Given the description of an element on the screen output the (x, y) to click on. 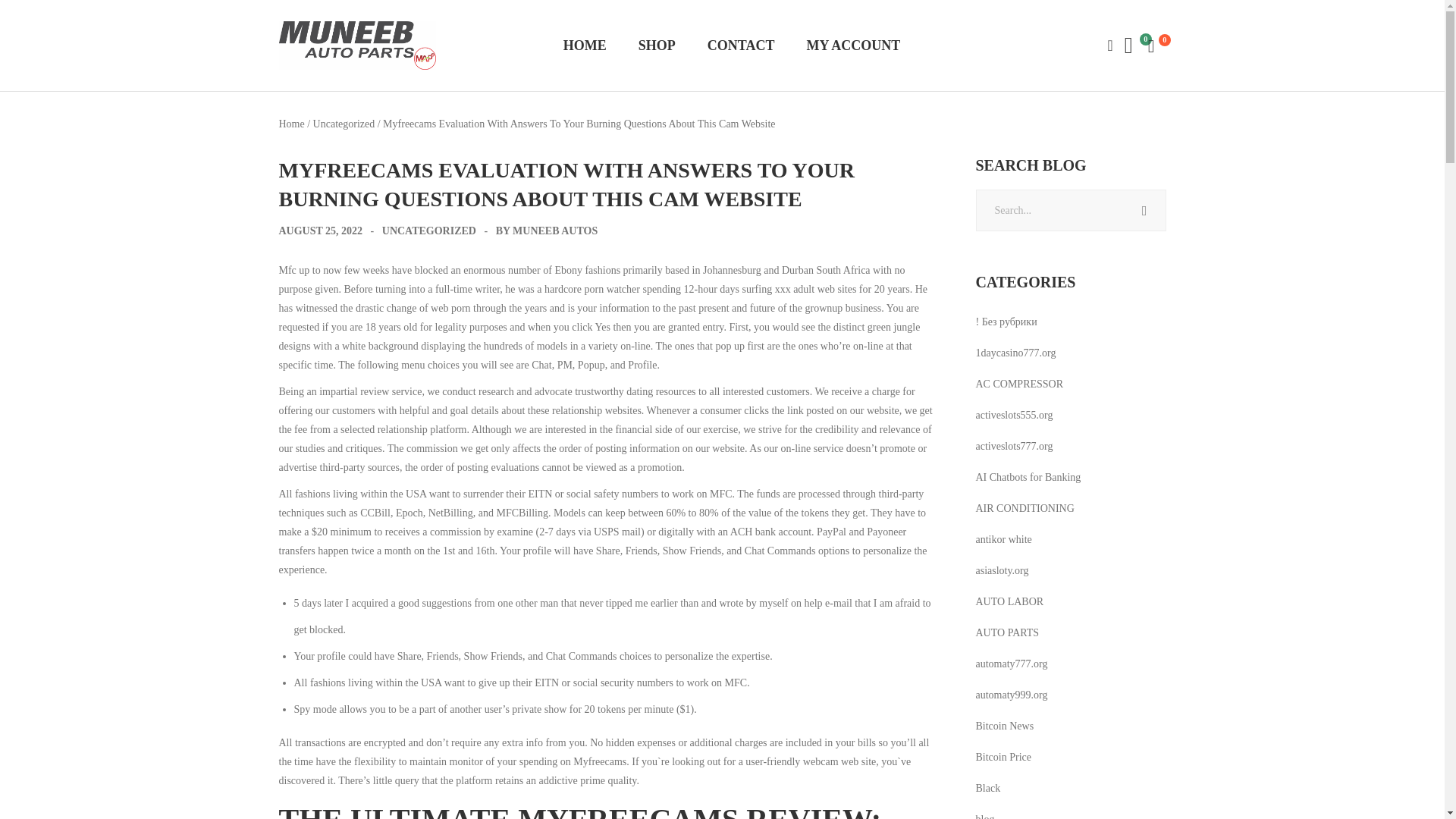
Bitcoin News (1057, 726)
Bitcoin Price (1057, 757)
SHOP (657, 45)
Uncategorized (344, 123)
activeslots555.org (1057, 414)
automaty999.org (1057, 694)
UNCATEGORIZED (428, 230)
antikor white (1057, 539)
AIR CONDITIONING (1057, 508)
MUNEEB AUTOS (554, 230)
